Given the description of an element on the screen output the (x, y) to click on. 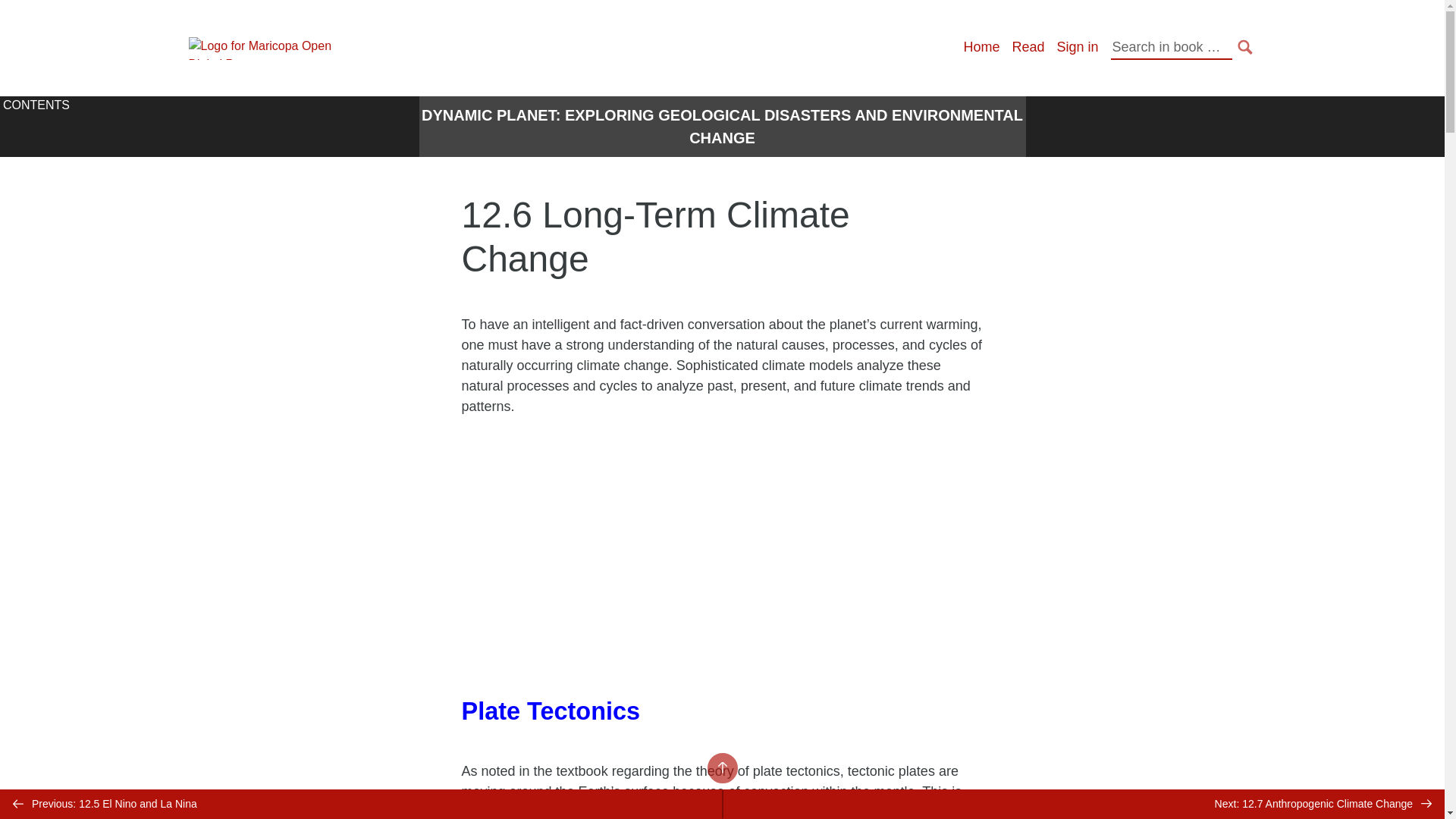
Read (1027, 46)
BACK TO TOP (721, 767)
Sign in (1077, 46)
Home (980, 46)
Previous: 12.5 El Nino and La Nina (361, 804)
Previous: 12.5 El Nino and La Nina (361, 804)
